Given the description of an element on the screen output the (x, y) to click on. 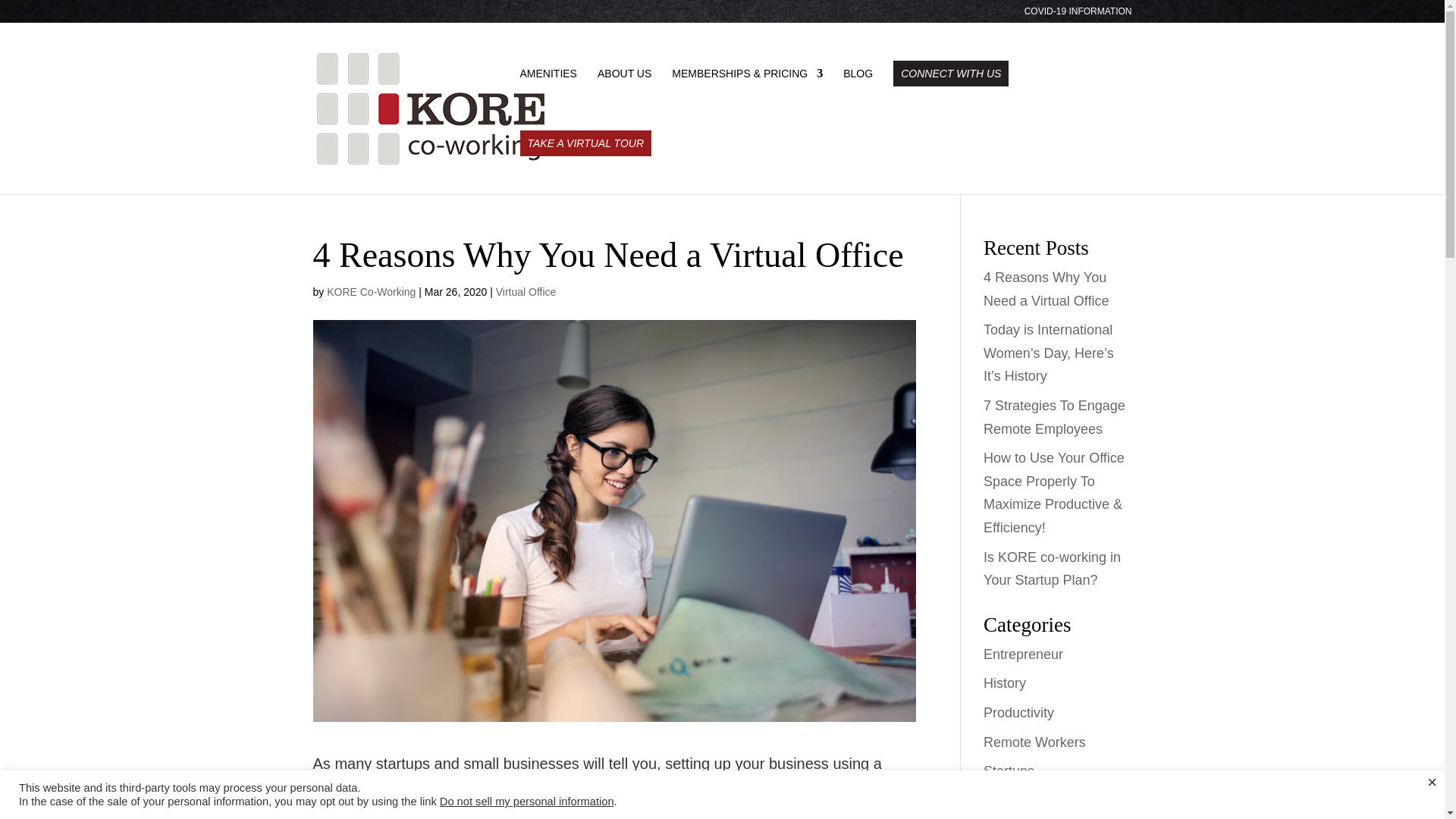
Entrepreneur (1023, 654)
CONNECT WITH US (951, 73)
COVID-19 INFORMATION (1078, 14)
KORE Co-Working (370, 291)
7 Strategies To Engage Remote Employees (1054, 417)
Is KORE co-working in Your Startup Plan? (1052, 568)
AMENITIES (547, 76)
TAKE A VIRTUAL TOUR (585, 143)
4 Reasons Why You Need a Virtual Office (1046, 289)
History (1005, 683)
Close and Accept (1431, 782)
ABOUT US (623, 76)
Virtual Office (526, 291)
BLOG (857, 76)
Productivity (1019, 712)
